Given the description of an element on the screen output the (x, y) to click on. 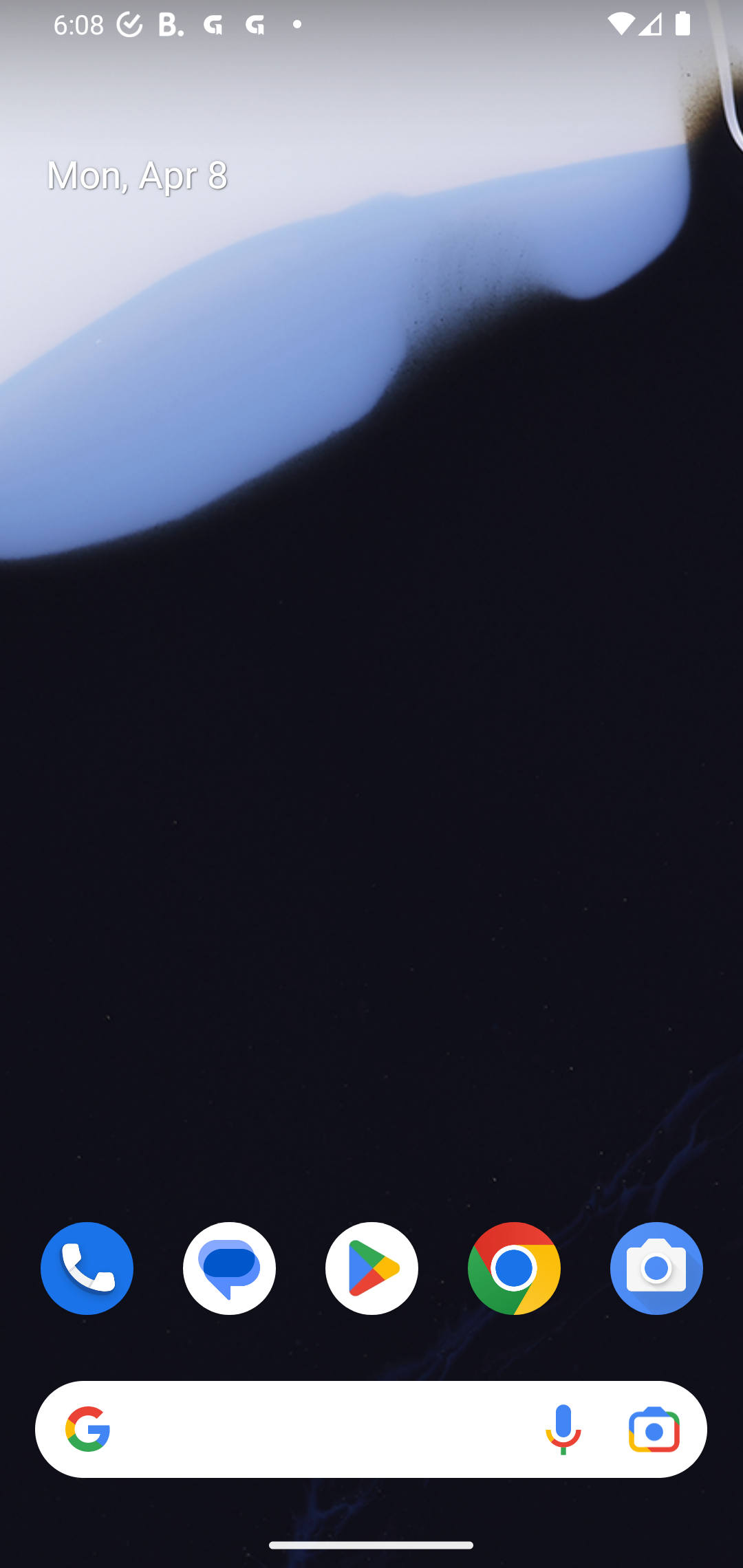
Mon, Apr 8 (386, 175)
Phone (86, 1268)
Messages (229, 1268)
Play Store (371, 1268)
Chrome (513, 1268)
Camera (656, 1268)
Search Voice search Google Lens (370, 1429)
Voice search (562, 1429)
Google Lens (653, 1429)
